Given the description of an element on the screen output the (x, y) to click on. 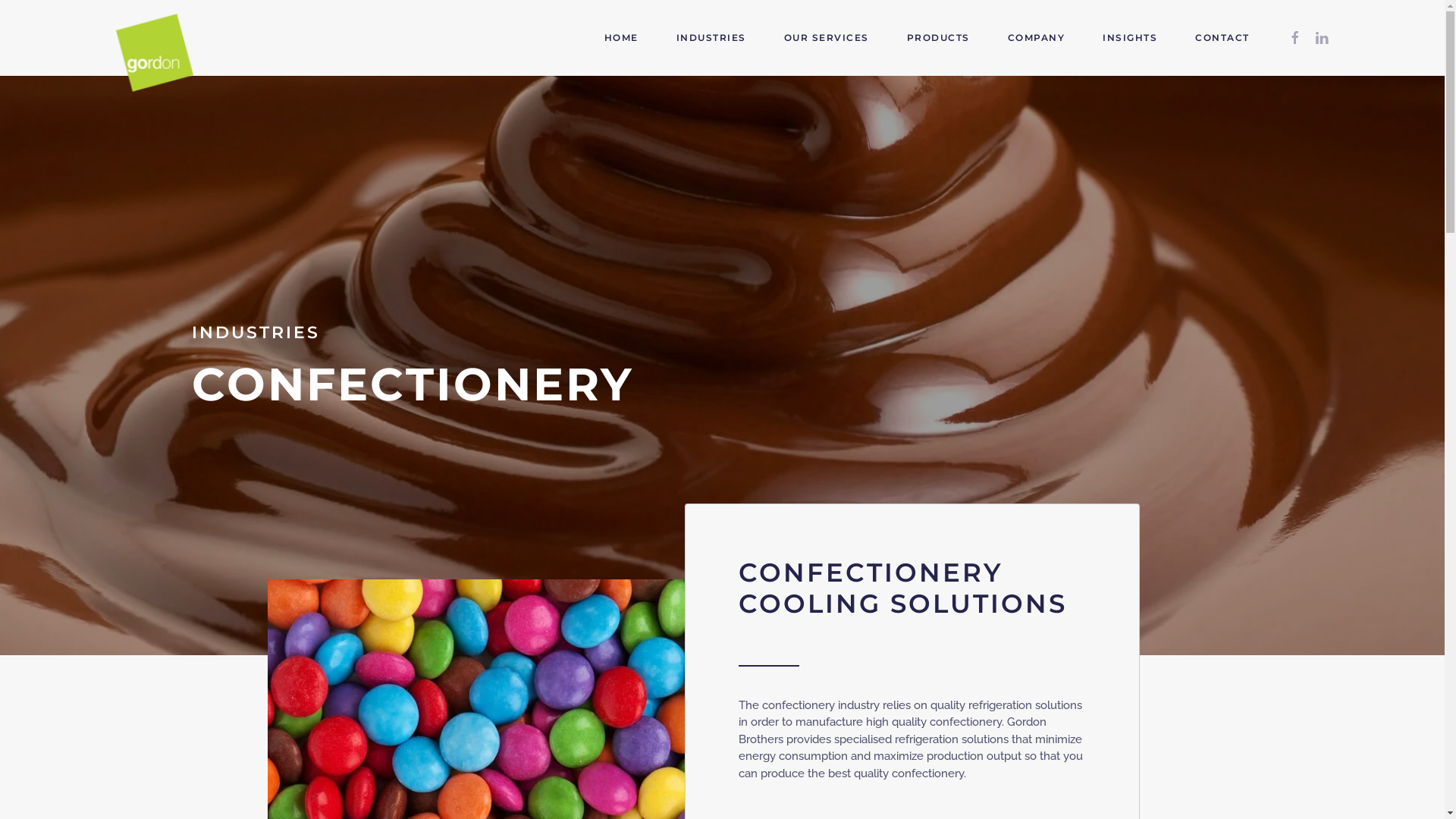
PRODUCTS Element type: text (937, 37)
INDUSTRIES Element type: text (711, 37)
INSIGHTS Element type: text (1129, 37)
CONTACT Element type: text (1222, 37)
HOME Element type: text (620, 37)
COMPANY Element type: text (1035, 37)
OUR SERVICES Element type: text (826, 37)
